Given the description of an element on the screen output the (x, y) to click on. 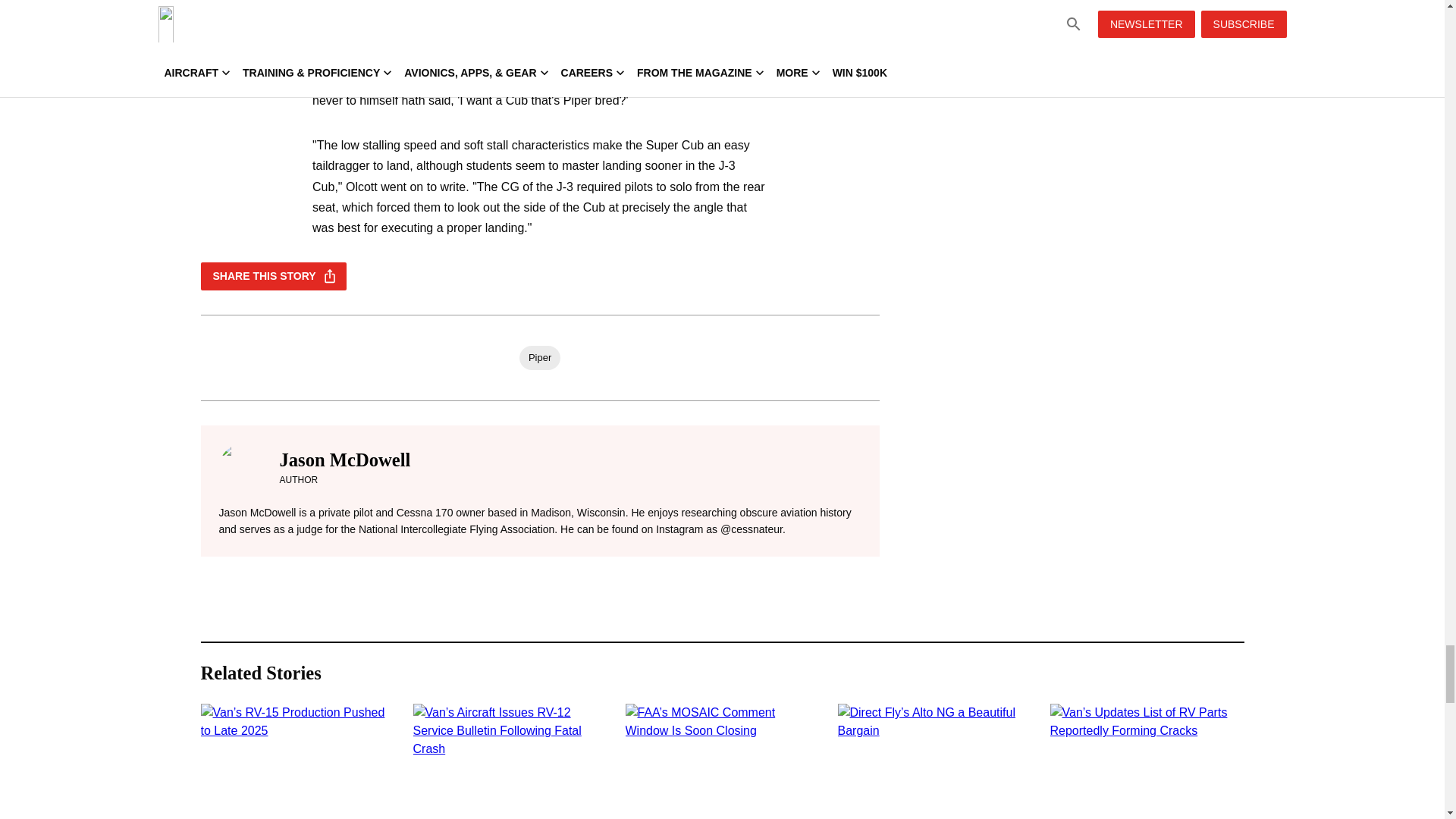
Piper (539, 357)
Jason McDowell (344, 459)
SHARE THIS STORY (273, 276)
